Given the description of an element on the screen output the (x, y) to click on. 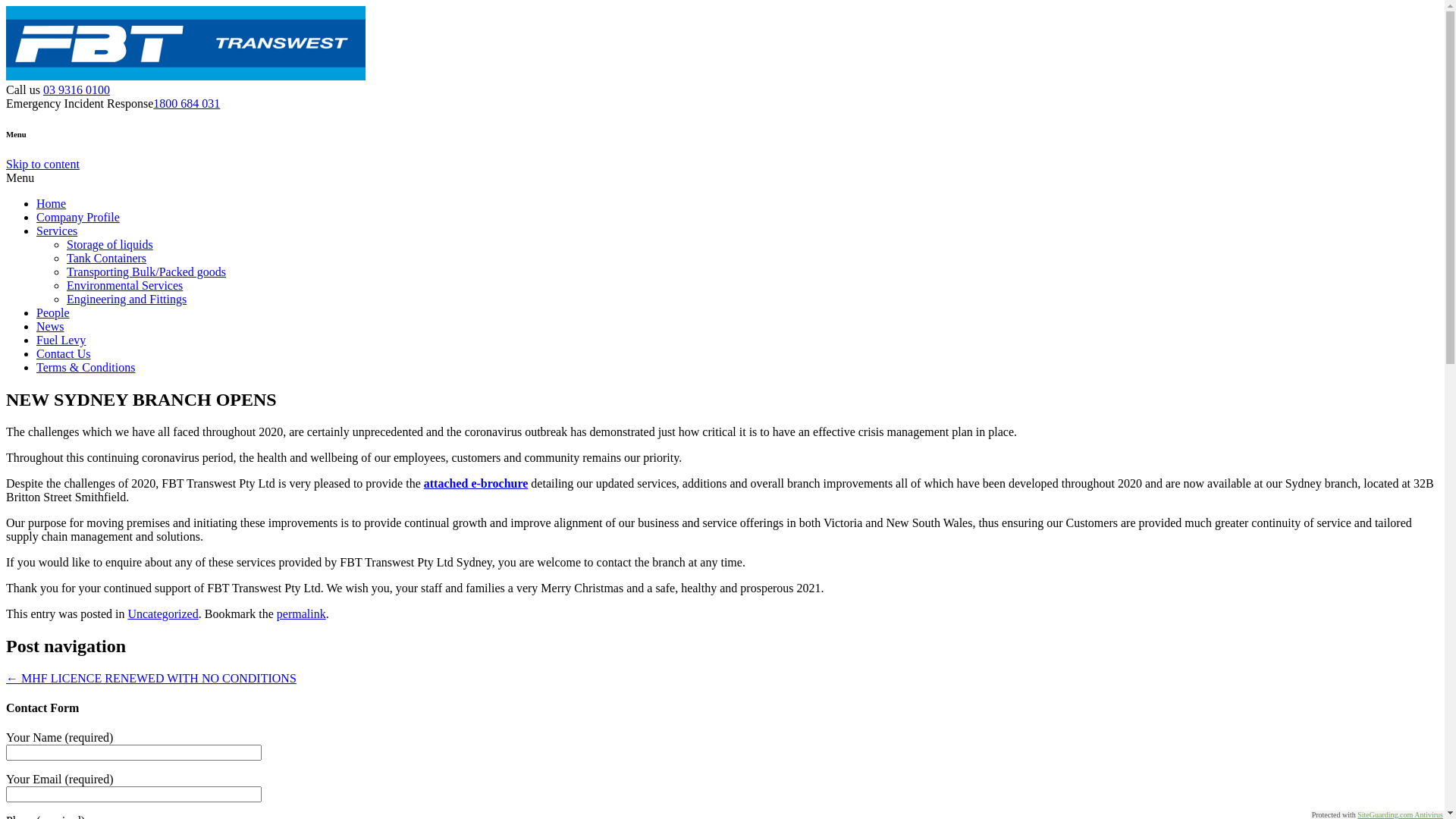
Tank Containers Element type: text (106, 257)
Home Element type: text (50, 203)
Contact Us Element type: text (63, 353)
1800 684 031 Element type: text (186, 103)
Skip to content Element type: text (42, 163)
Terms & Conditions Element type: text (85, 366)
Storage of liquids Element type: text (109, 244)
Transporting Bulk/Packed goods Element type: text (145, 271)
Services Element type: text (56, 230)
News Element type: text (49, 326)
Engineering and Fittings Element type: text (126, 298)
03 9316 0100 Element type: text (76, 89)
Environmental Services Element type: text (124, 285)
People Element type: text (52, 312)
Company Profile Element type: text (77, 216)
permalink Element type: text (301, 613)
Fuel Levy Element type: text (60, 339)
Uncategorized Element type: text (162, 613)
attached e-brochure Element type: text (475, 482)
